Given the description of an element on the screen output the (x, y) to click on. 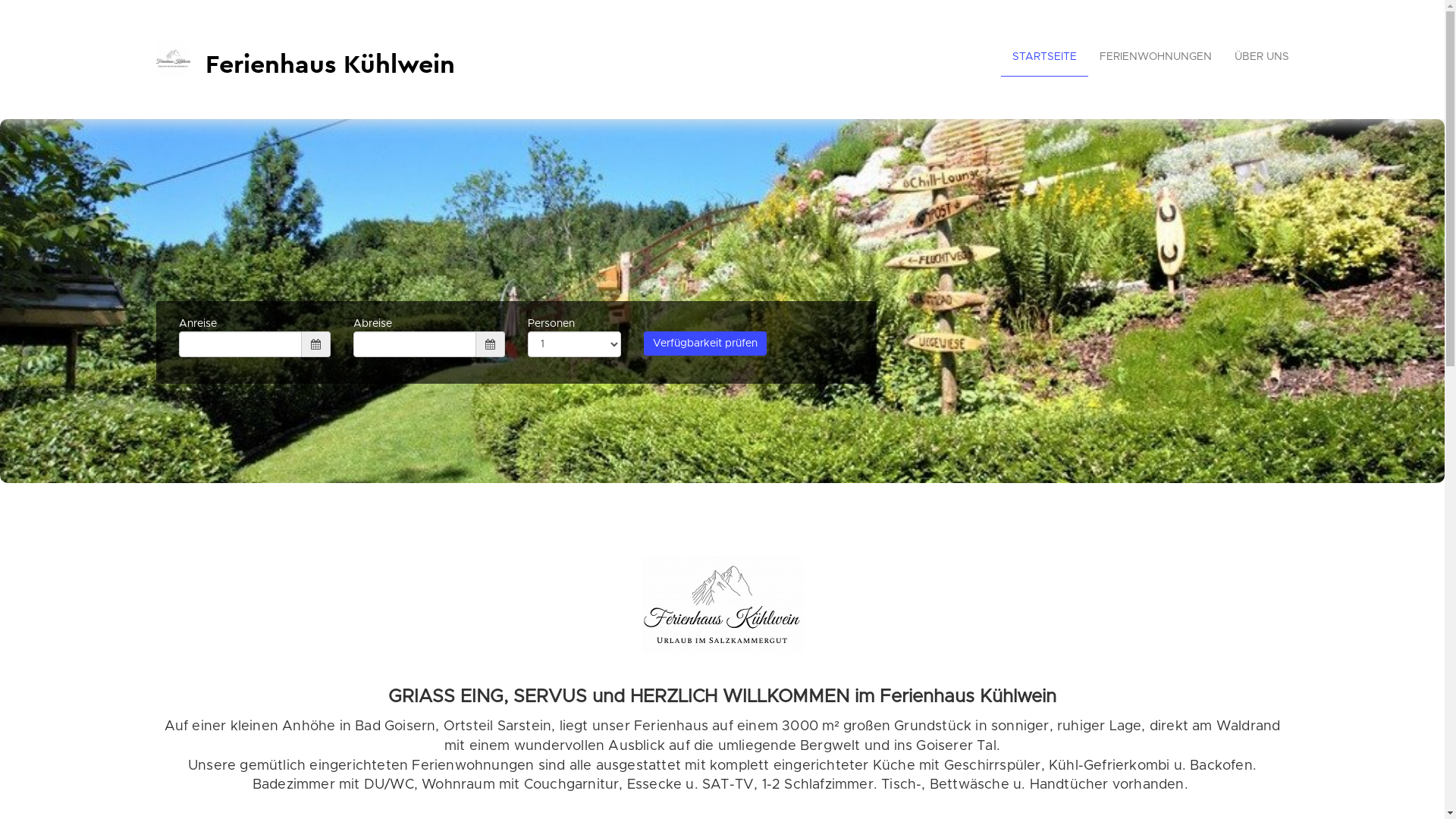
FERIENWOHNUNGEN Element type: text (1154, 56)
STARTSEITE Element type: text (1044, 56)
